Given the description of an element on the screen output the (x, y) to click on. 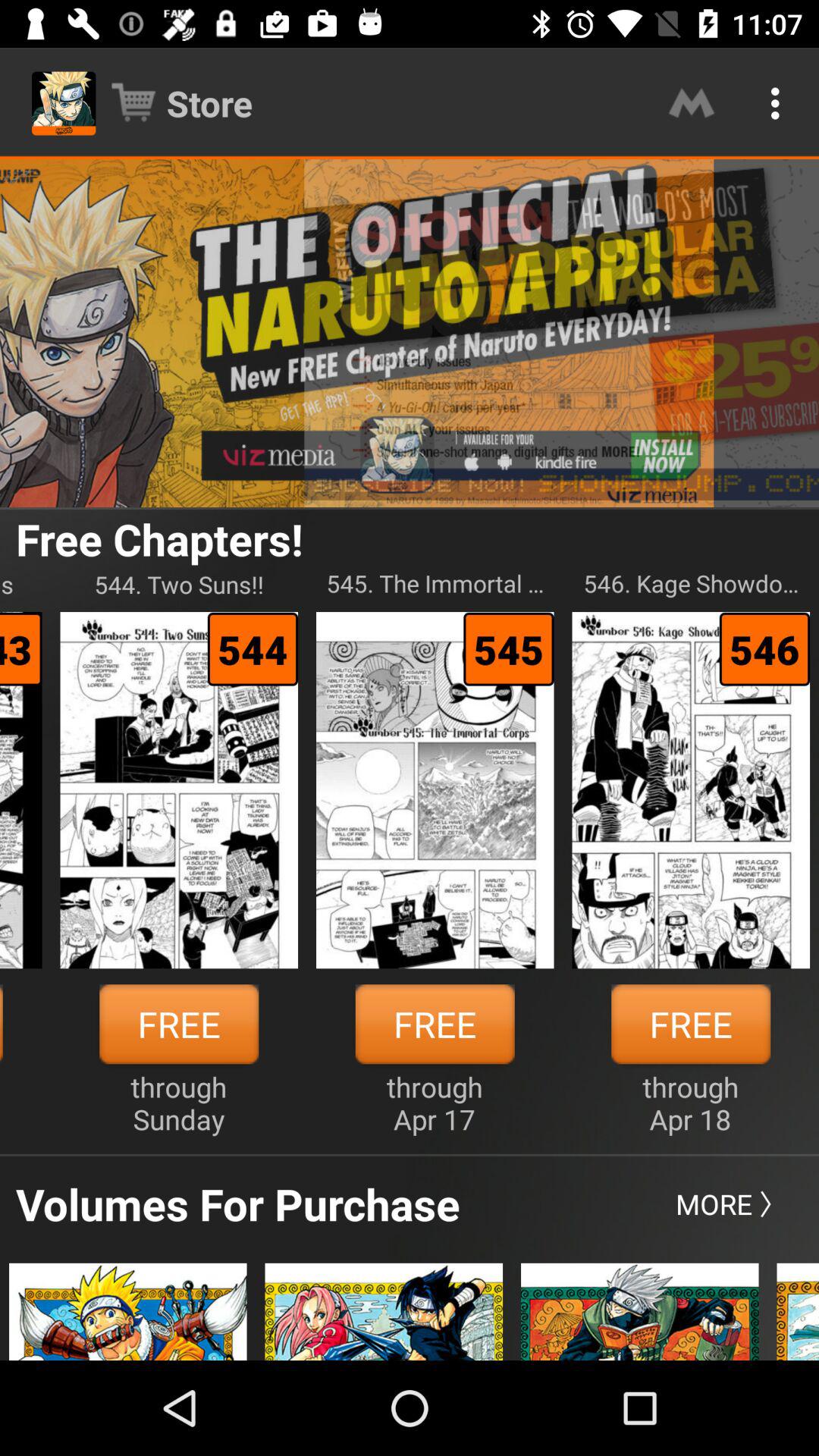
swipe until volumes for purchase item (237, 1203)
